Given the description of an element on the screen output the (x, y) to click on. 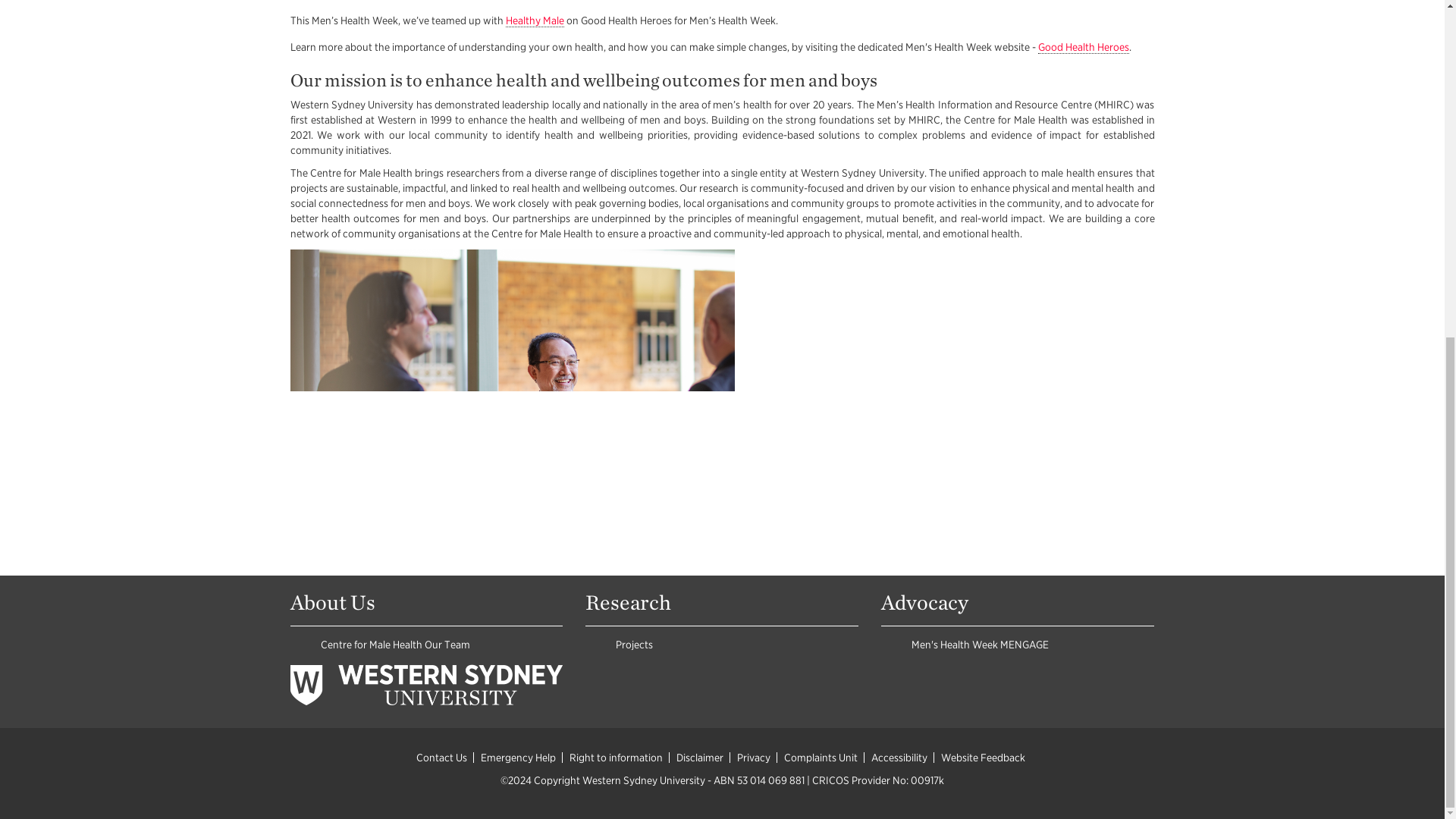
Healthy Male (534, 20)
Healthy Male (534, 20)
Centre for Male Health (371, 644)
Good Health Heroes (1082, 47)
Our Team (447, 644)
